Given the description of an element on the screen output the (x, y) to click on. 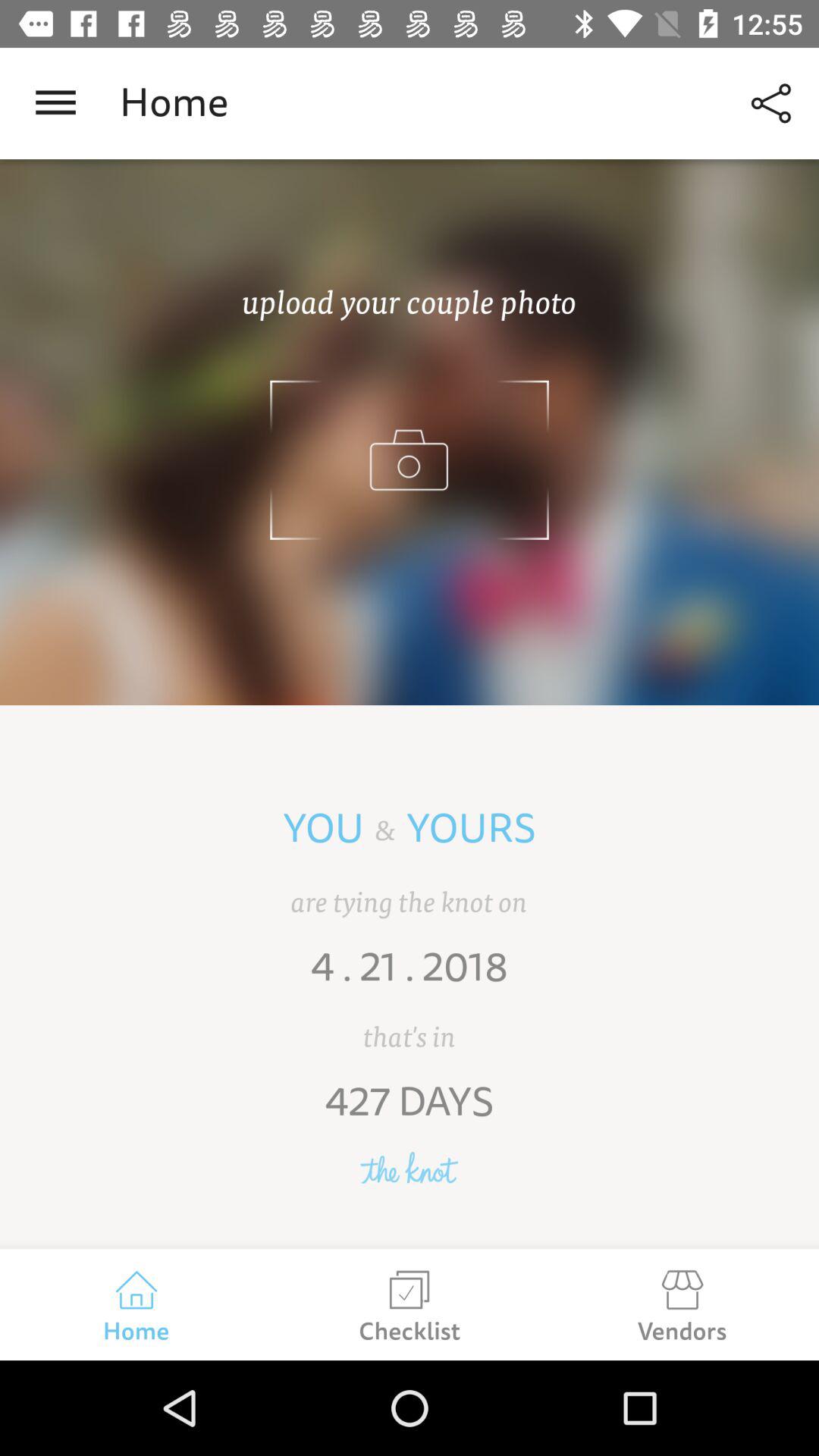
tap icon to the right of the home icon (771, 103)
